Given the description of an element on the screen output the (x, y) to click on. 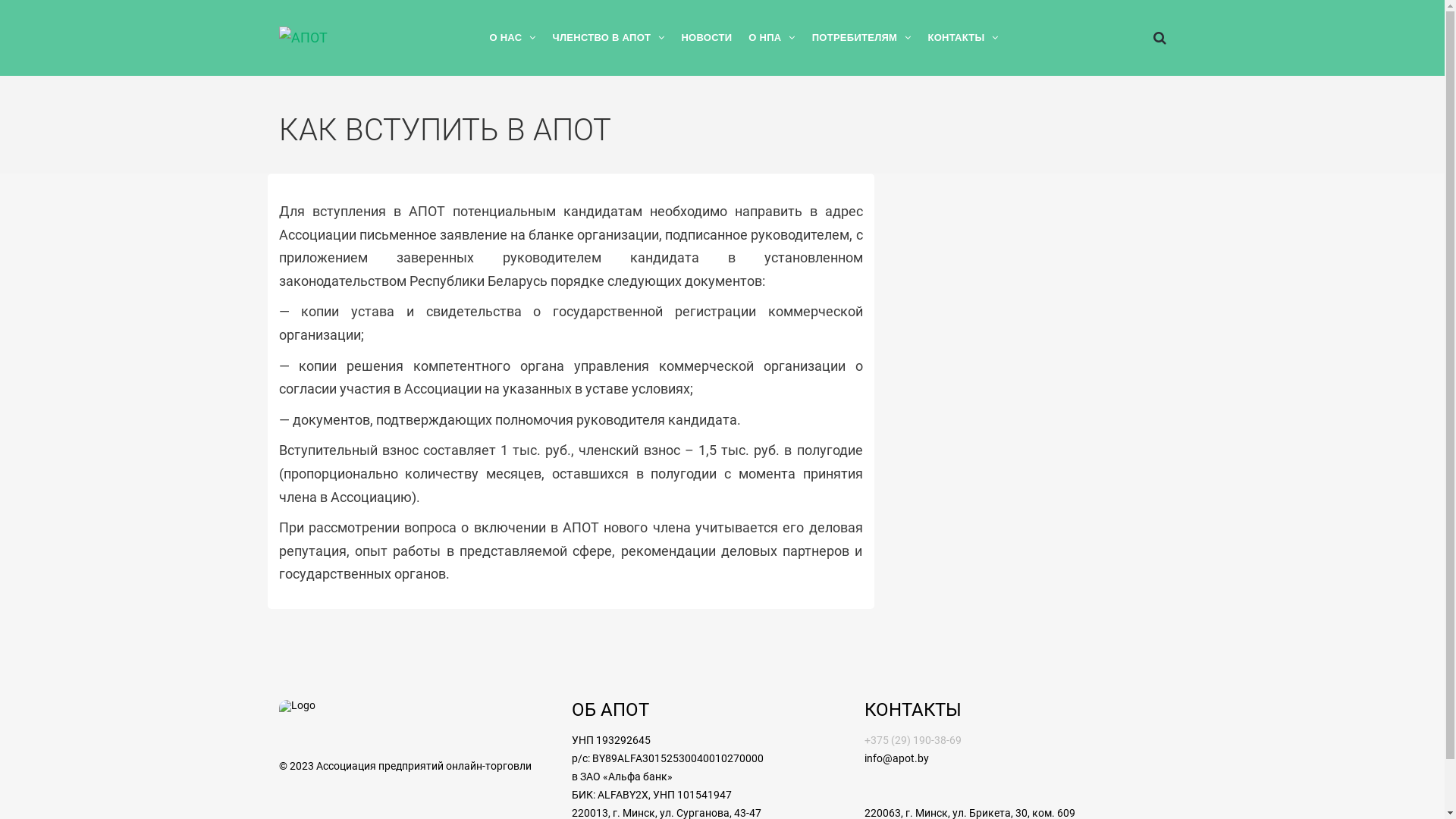
+375 (29) 190-38-69 Element type: text (912, 740)
